Given the description of an element on the screen output the (x, y) to click on. 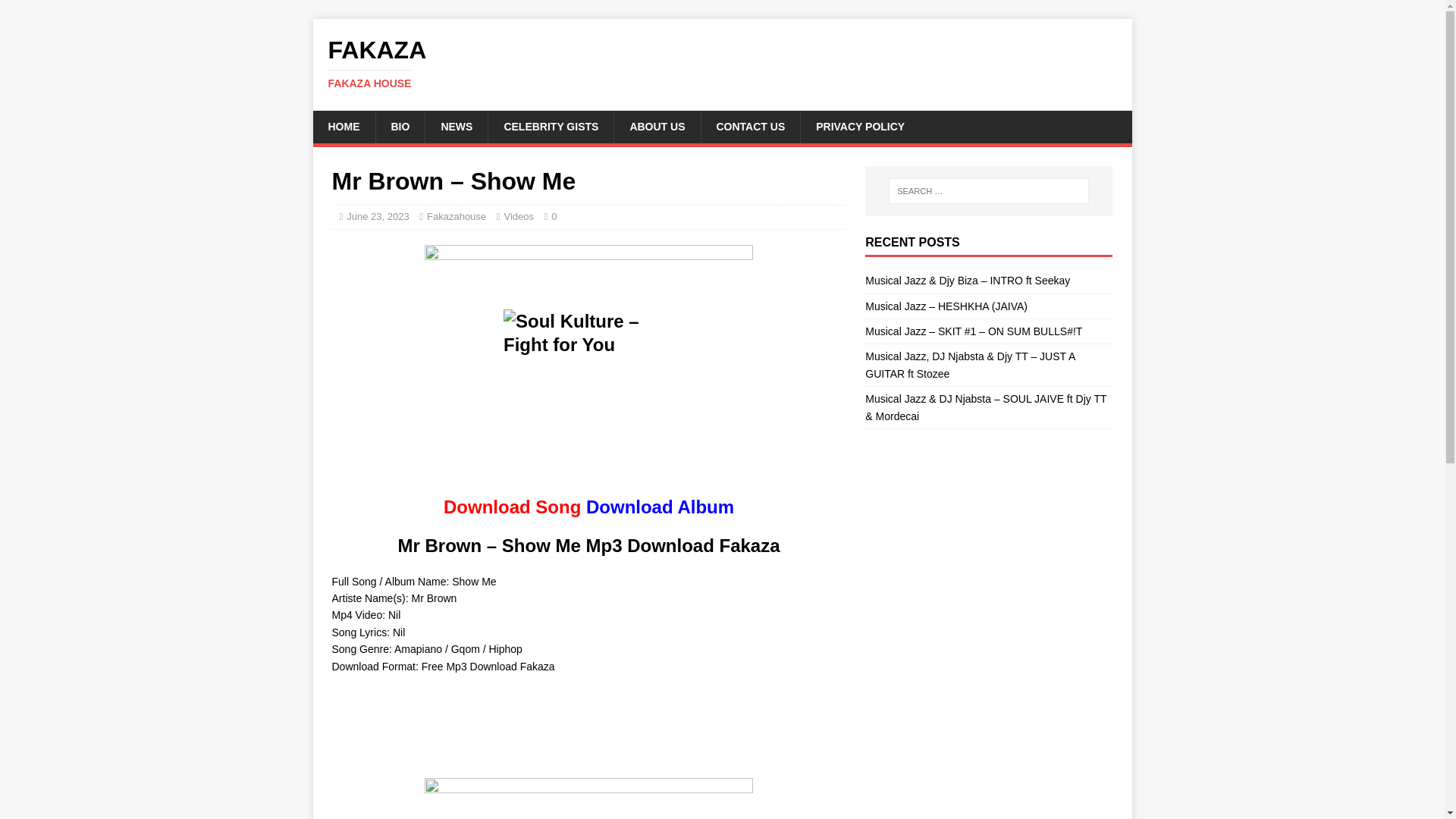
HOME (343, 126)
June 23, 2023 (377, 215)
Fakazahouse (456, 215)
Search (721, 63)
Download Song (56, 11)
NEWS (512, 506)
CELEBRITY GISTS (456, 126)
CONTACT US (549, 126)
PRIVACY POLICY (750, 126)
